Given the description of an element on the screen output the (x, y) to click on. 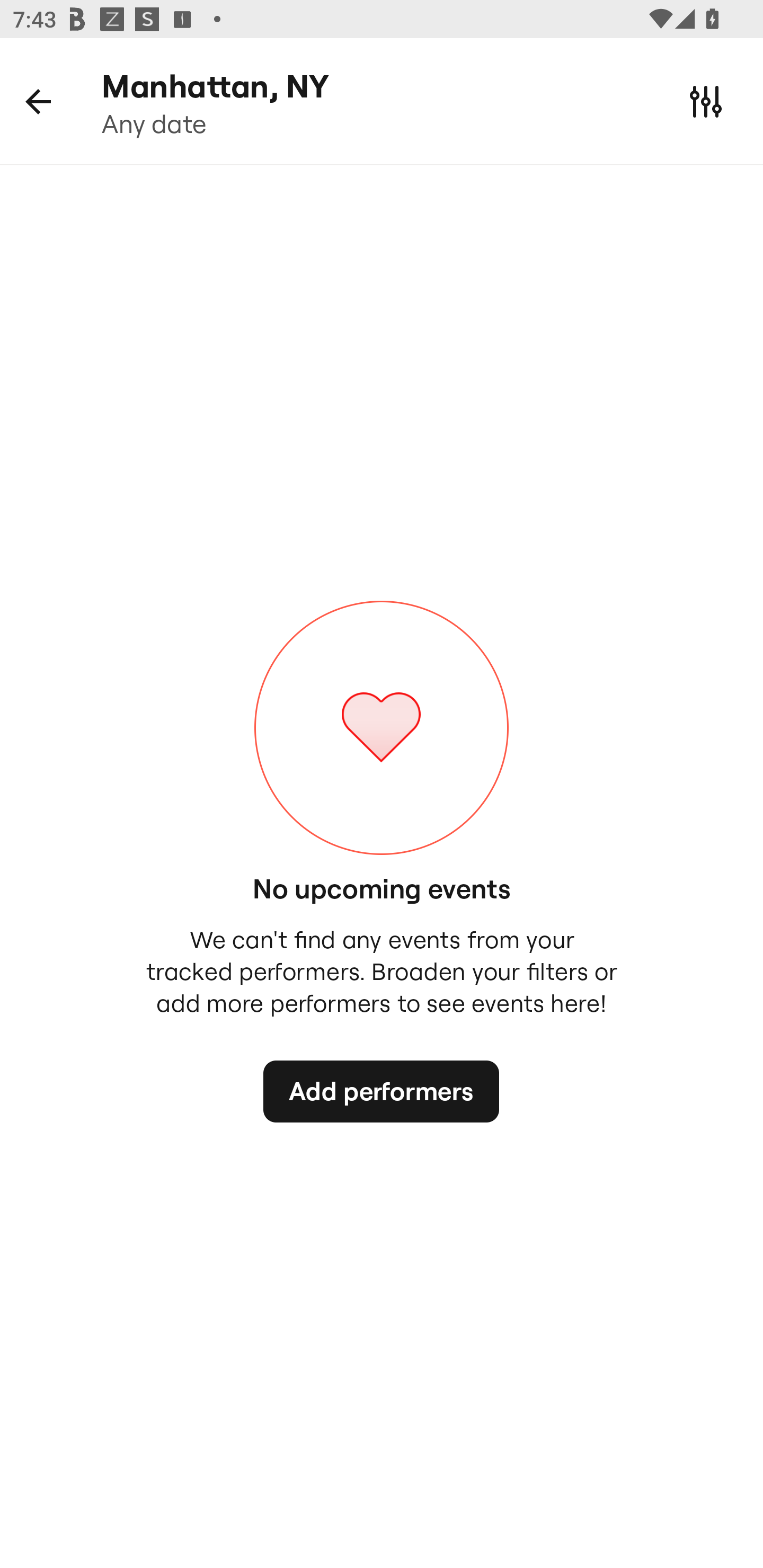
Back (38, 100)
Filters (705, 100)
Add performers (381, 1091)
